Given the description of an element on the screen output the (x, y) to click on. 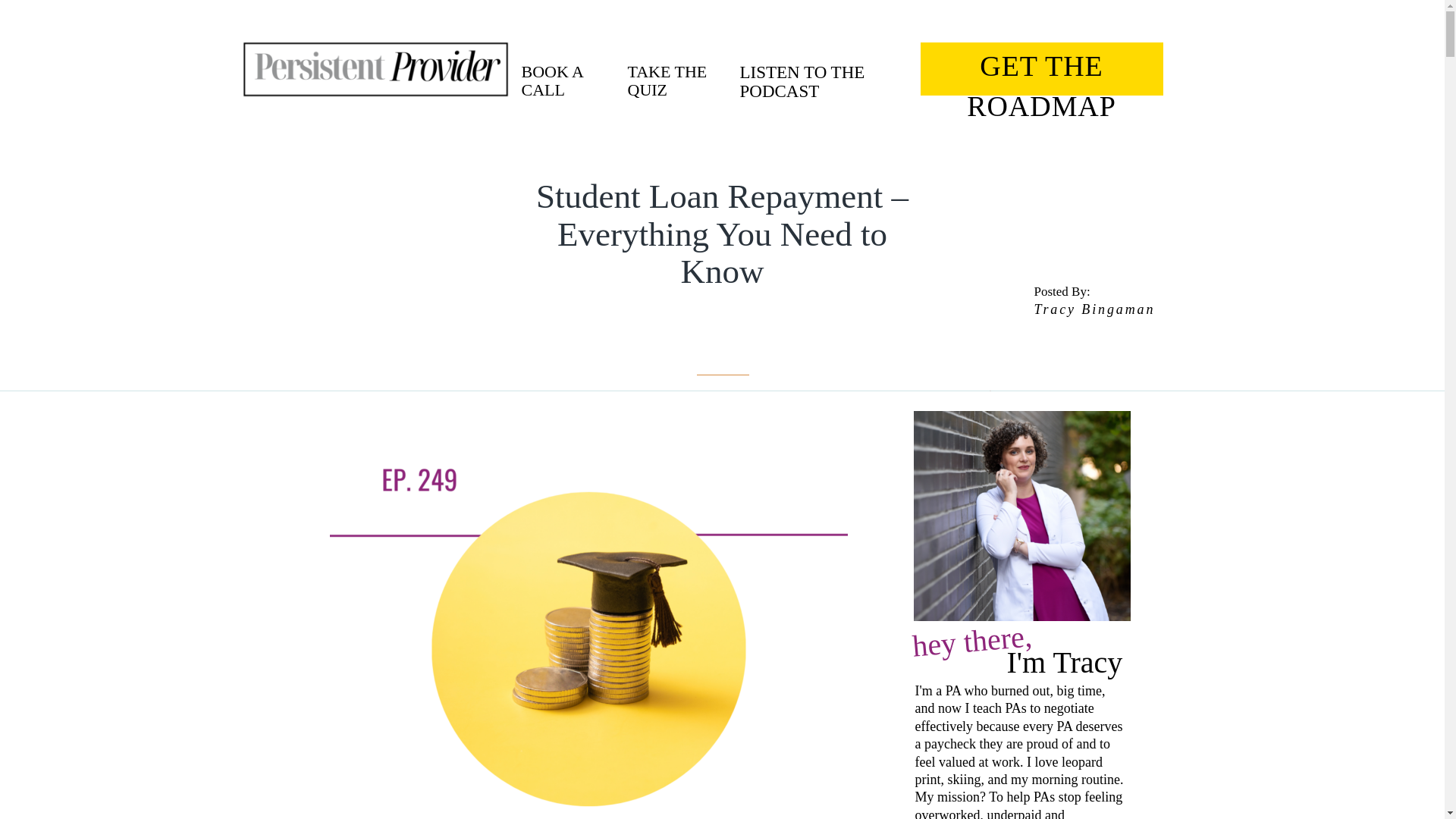
LISTEN TO THE PODCAST (825, 69)
TAKE THE QUIZ (674, 69)
GET THE ROADMAP (1041, 70)
BOOK A CALL (567, 69)
